Given the description of an element on the screen output the (x, y) to click on. 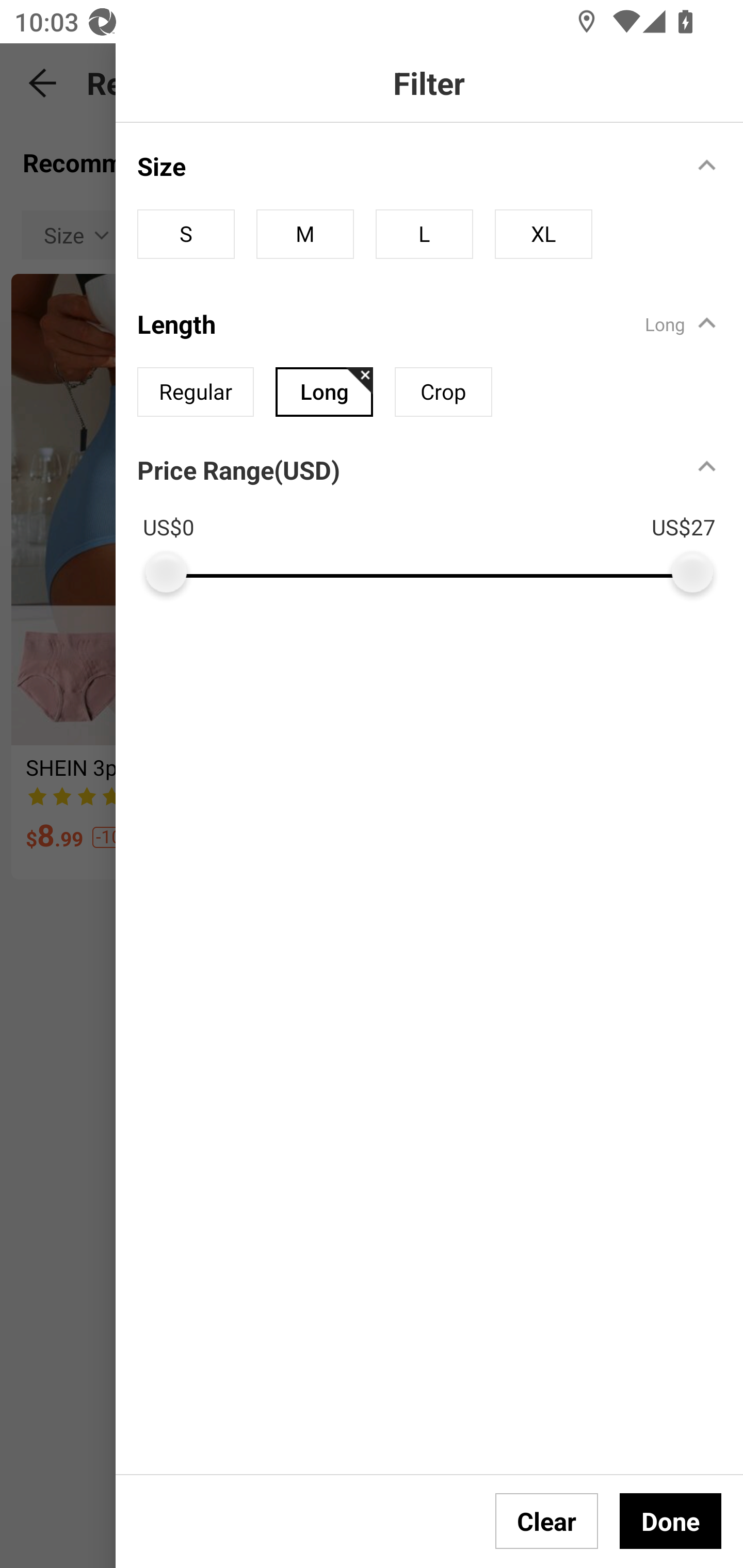
Size (403, 166)
S (185, 234)
M (304, 234)
L (424, 234)
XL (543, 234)
Length (403, 323)
Regular (195, 391)
Long (323, 391)
Crop (442, 391)
Price Range(USD) US$0 US$27 (440, 515)
Price Range(USD) (238, 470)
Clear (546, 1520)
Done (670, 1520)
